Given the description of an element on the screen output the (x, y) to click on. 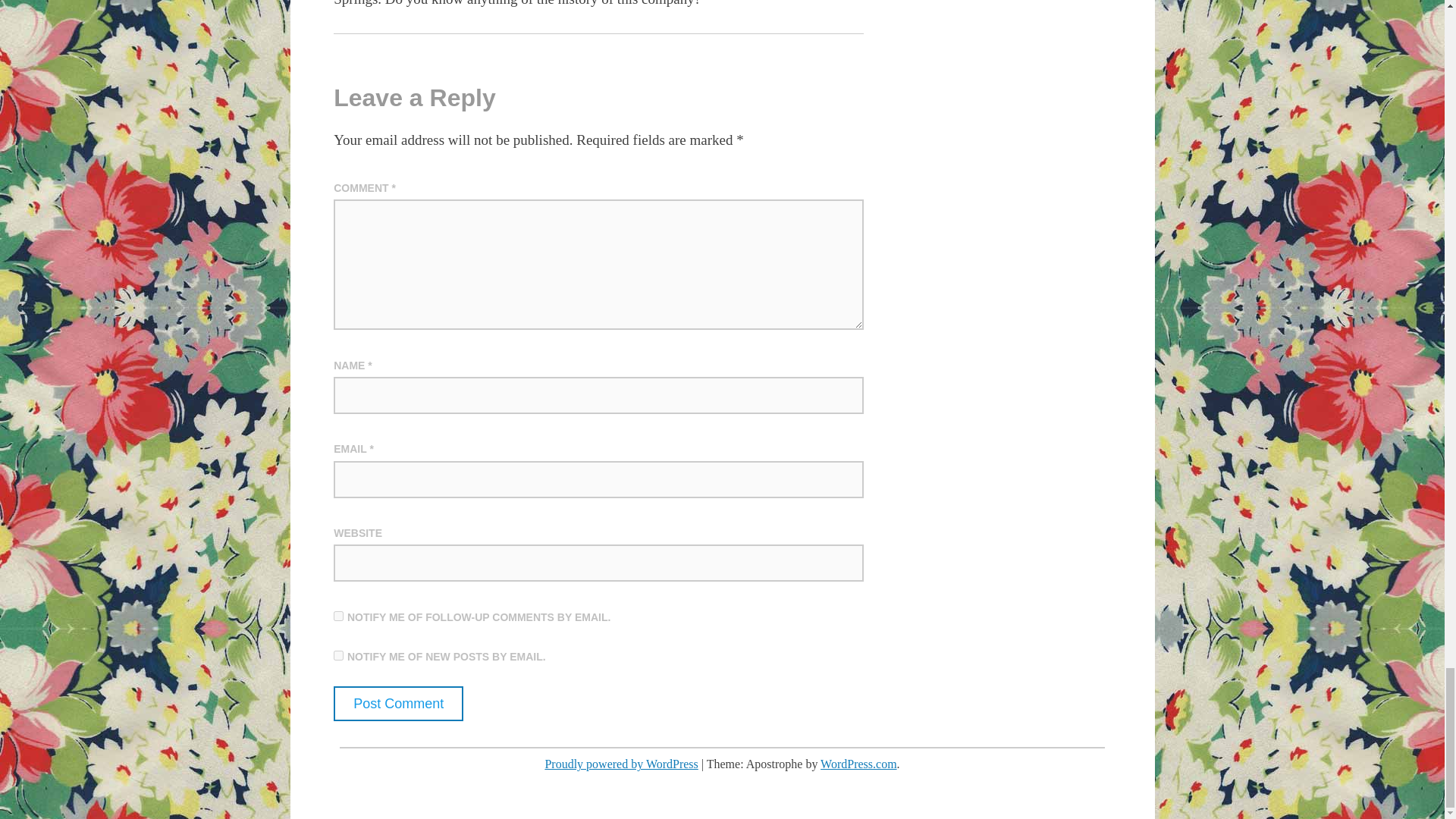
subscribe (338, 615)
Post Comment (398, 703)
subscribe (338, 655)
